Given the description of an element on the screen output the (x, y) to click on. 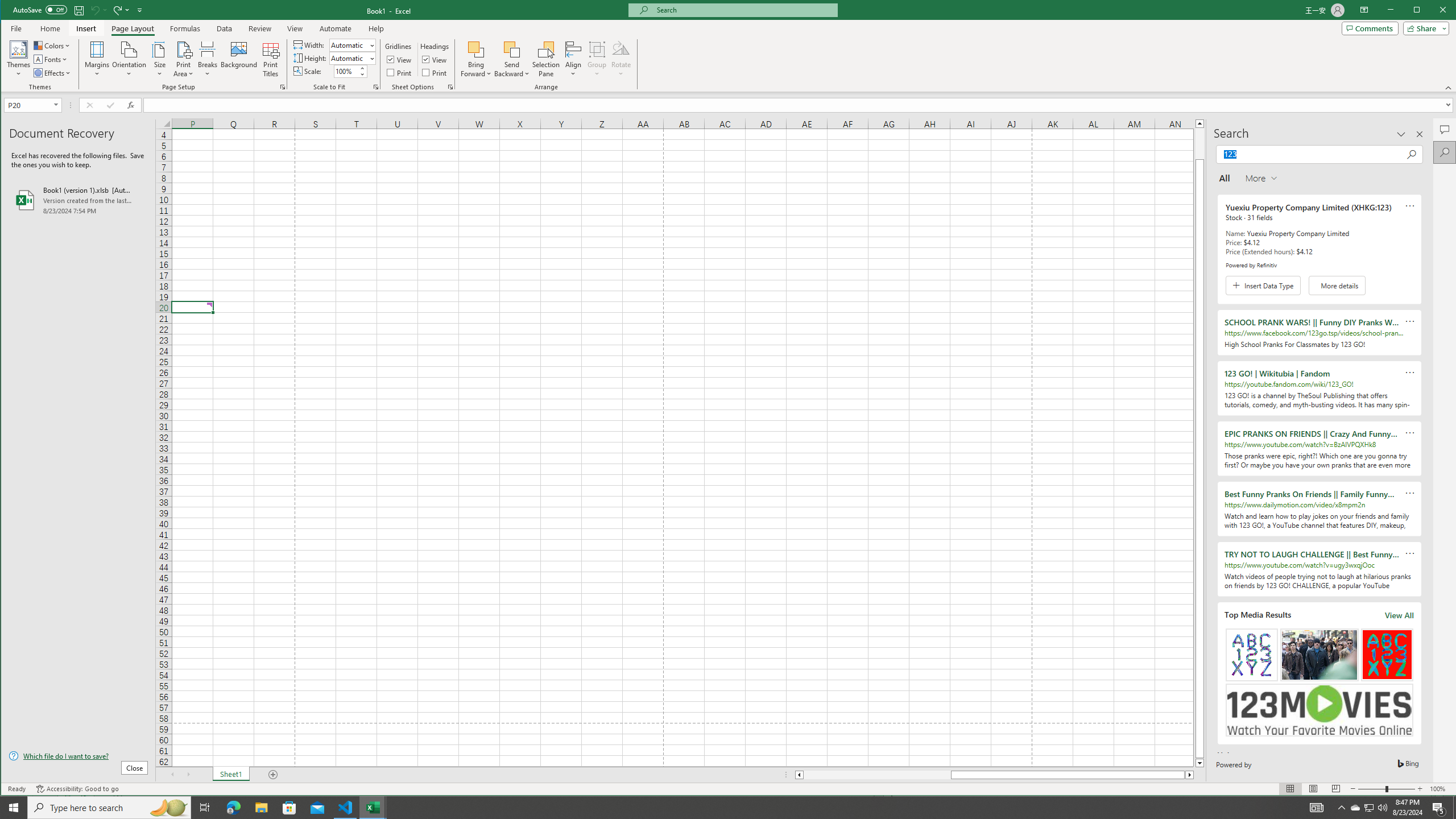
Visual Studio Code - 1 running window (345, 807)
Send Backward (512, 48)
Size (159, 59)
Task View (204, 807)
Print Titles (270, 59)
Print Area (183, 59)
Orientation (129, 59)
